Given the description of an element on the screen output the (x, y) to click on. 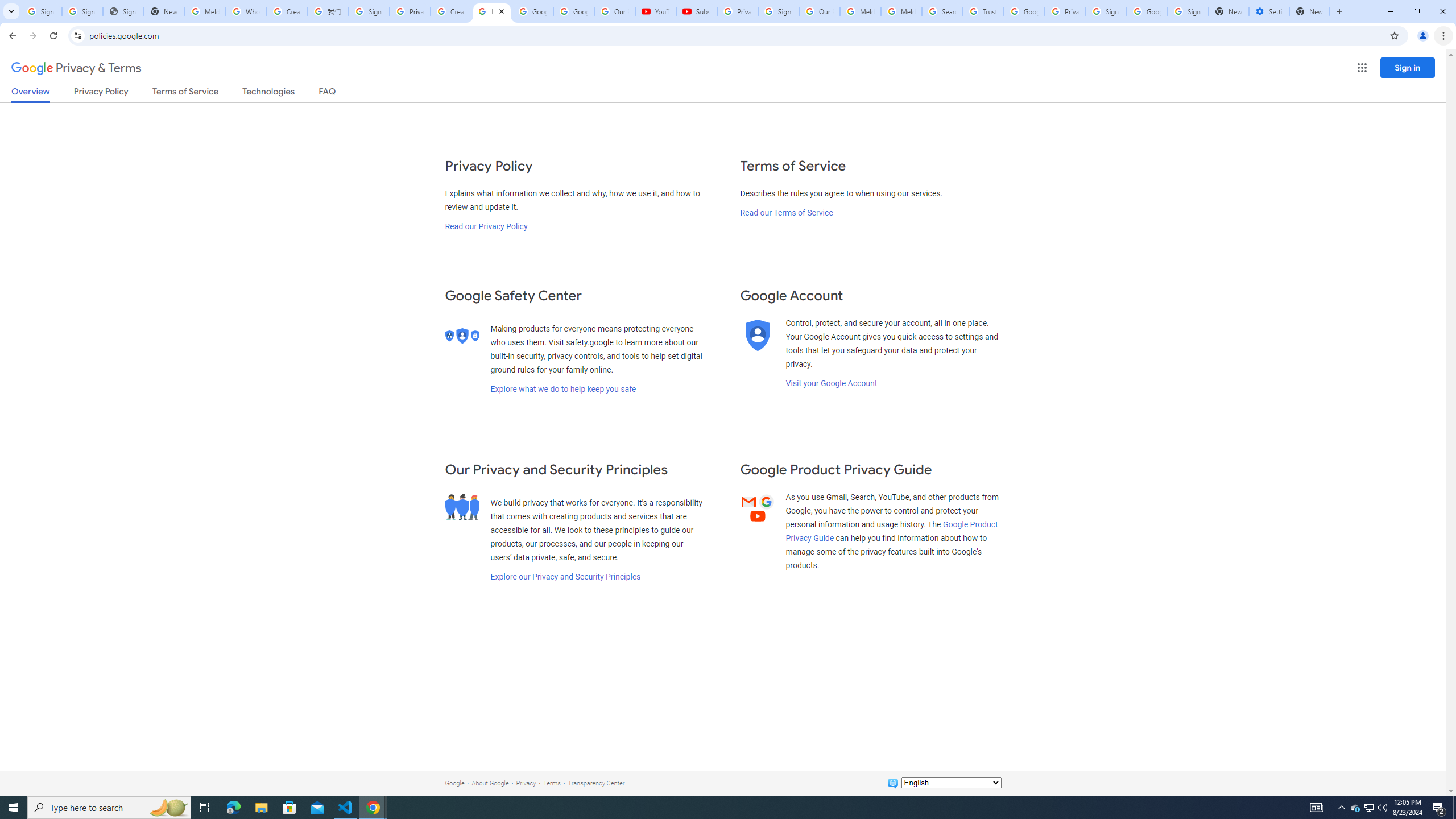
Google Ads - Sign in (1023, 11)
Visit your Google Account (830, 383)
Trusted Information and Content - Google Safety Center (983, 11)
Search our Doodle Library Collection - Google Doodles (942, 11)
About Google (490, 783)
Subscriptions - YouTube (696, 11)
New Tab (1309, 11)
